Given the description of an element on the screen output the (x, y) to click on. 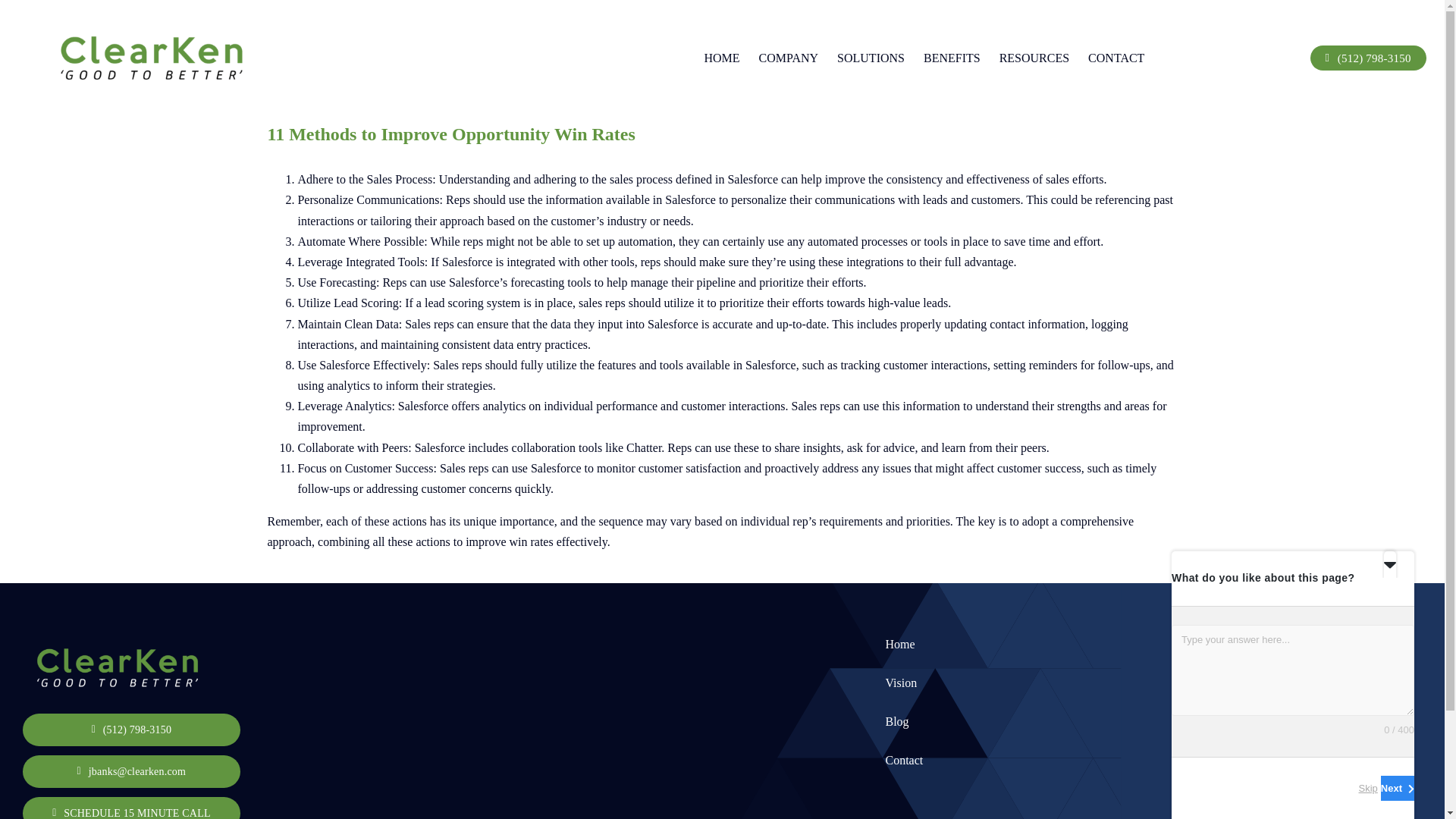
SOLUTIONS (870, 57)
COMPANY (788, 57)
CONTACT (1115, 57)
BENEFITS (951, 57)
HOME (721, 57)
RESOURCES (1033, 57)
